Given the description of an element on the screen output the (x, y) to click on. 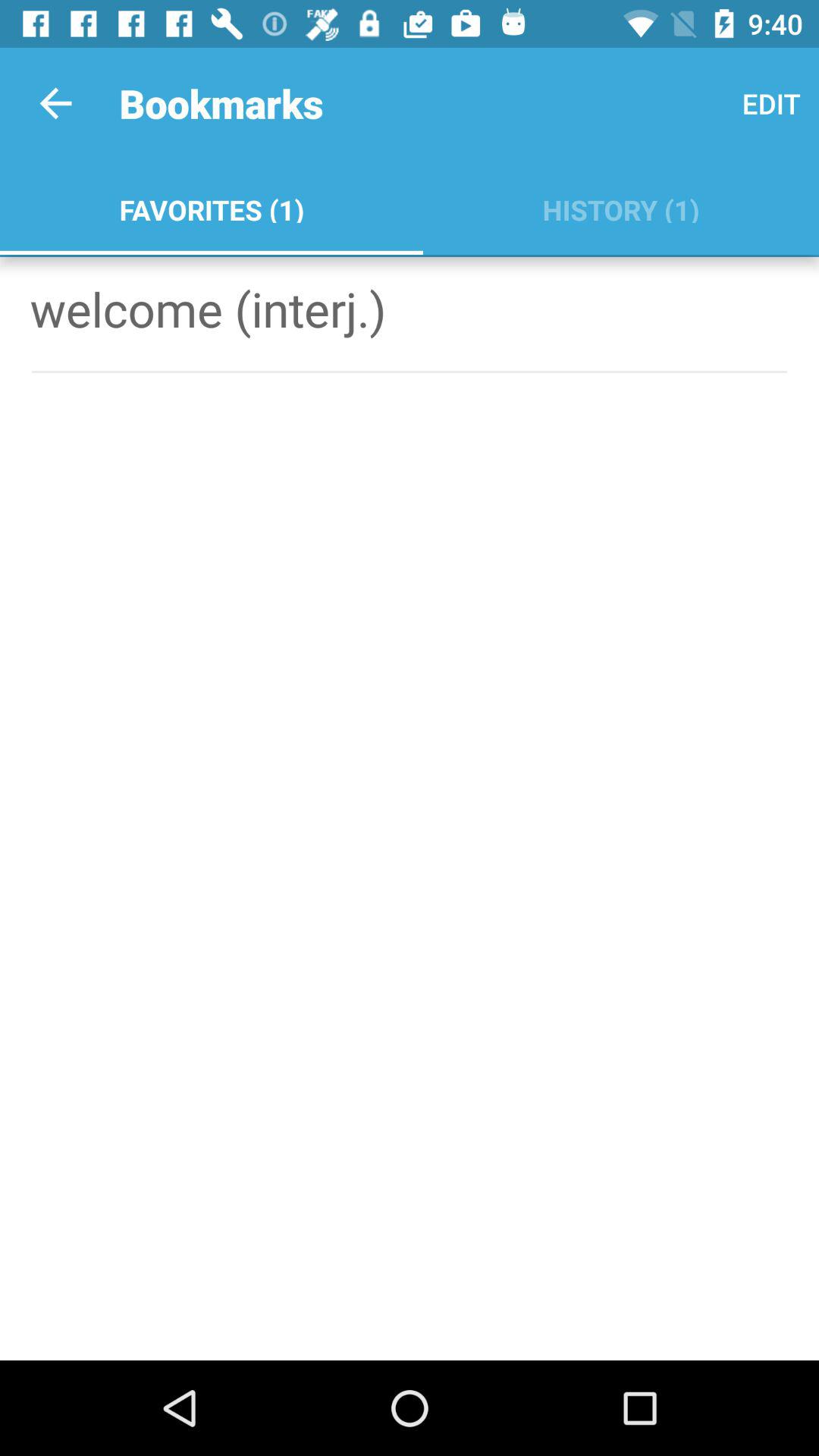
select the item to the right of the favorites (1) item (621, 206)
